Given the description of an element on the screen output the (x, y) to click on. 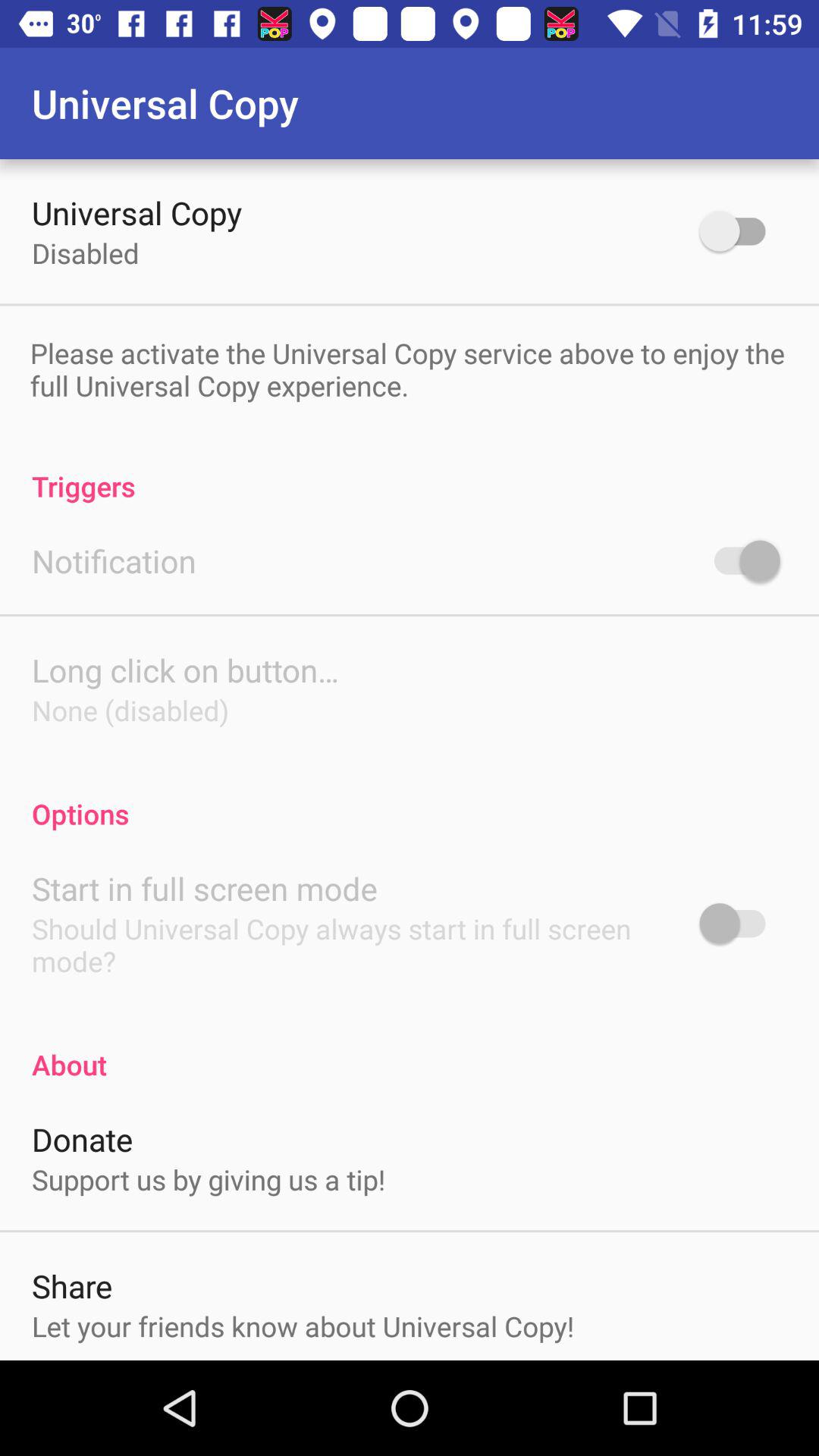
swipe until the support us by icon (208, 1179)
